Given the description of an element on the screen output the (x, y) to click on. 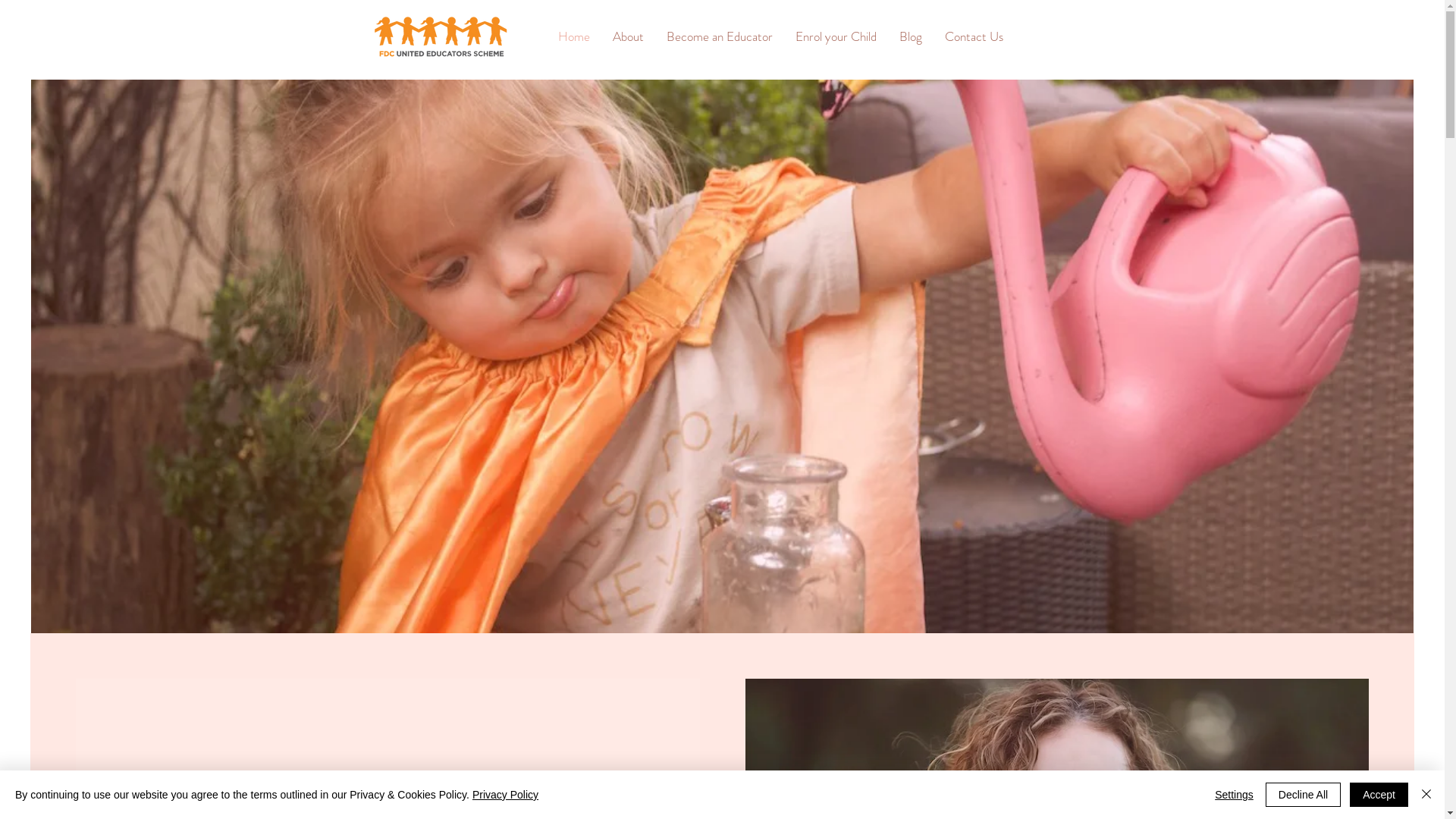
Blog Element type: text (909, 36)
Enrol your Child Element type: text (836, 36)
Become an Educator Element type: text (719, 36)
Home Element type: text (573, 36)
Privacy Policy Element type: text (505, 794)
Contact Us Element type: text (972, 36)
About Element type: text (627, 36)
Accept Element type: text (1378, 794)
Decline All Element type: text (1302, 794)
